Given the description of an element on the screen output the (x, y) to click on. 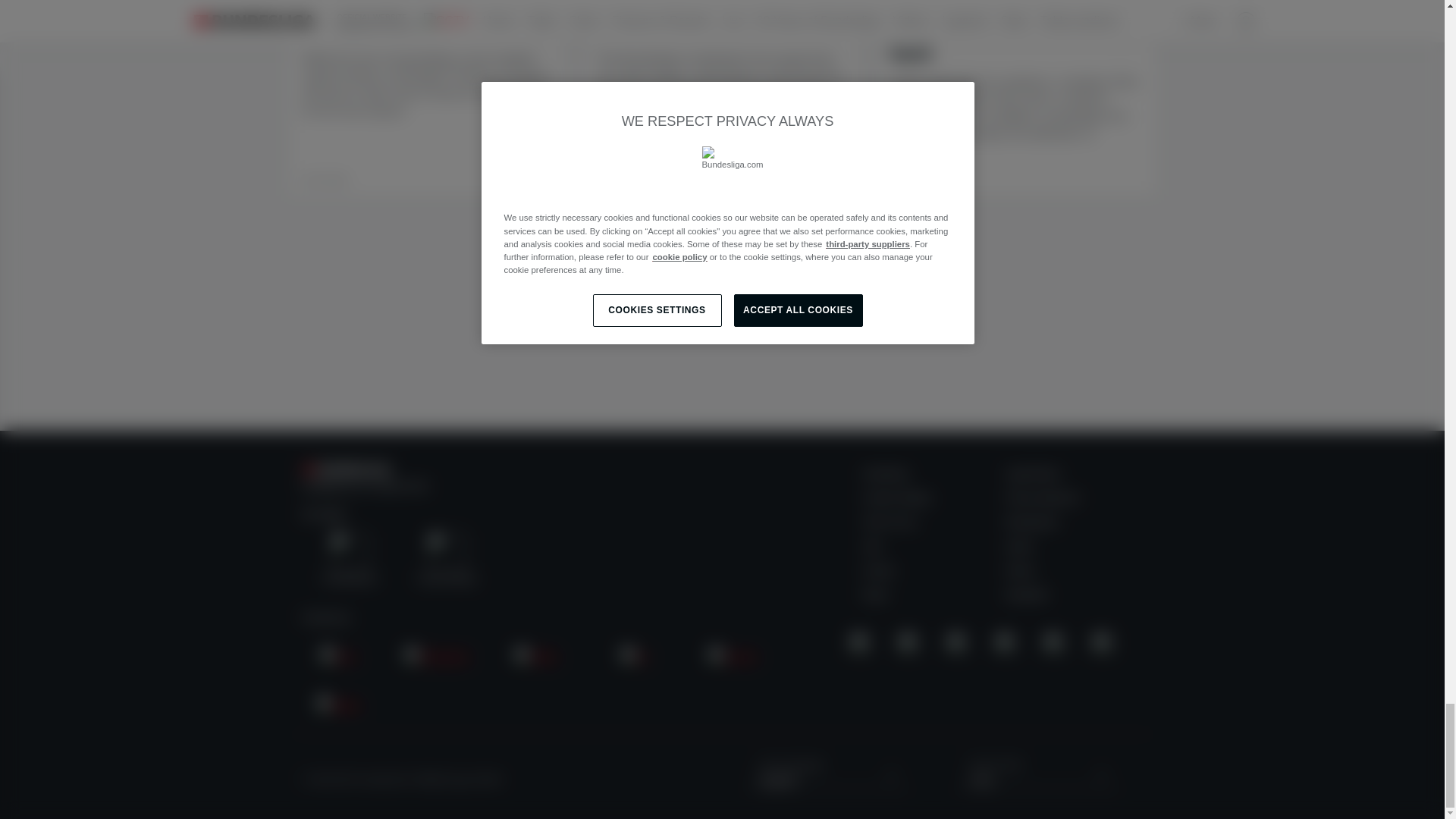
milka (536, 657)
aws (338, 657)
derbystar (437, 657)
ea (634, 657)
topps (338, 705)
Advertising (885, 473)
sorare (732, 657)
Privacy Statement (1042, 498)
Cookie settings (897, 498)
Terms of Use (890, 521)
Legal Notices (1033, 473)
